Given the description of an element on the screen output the (x, y) to click on. 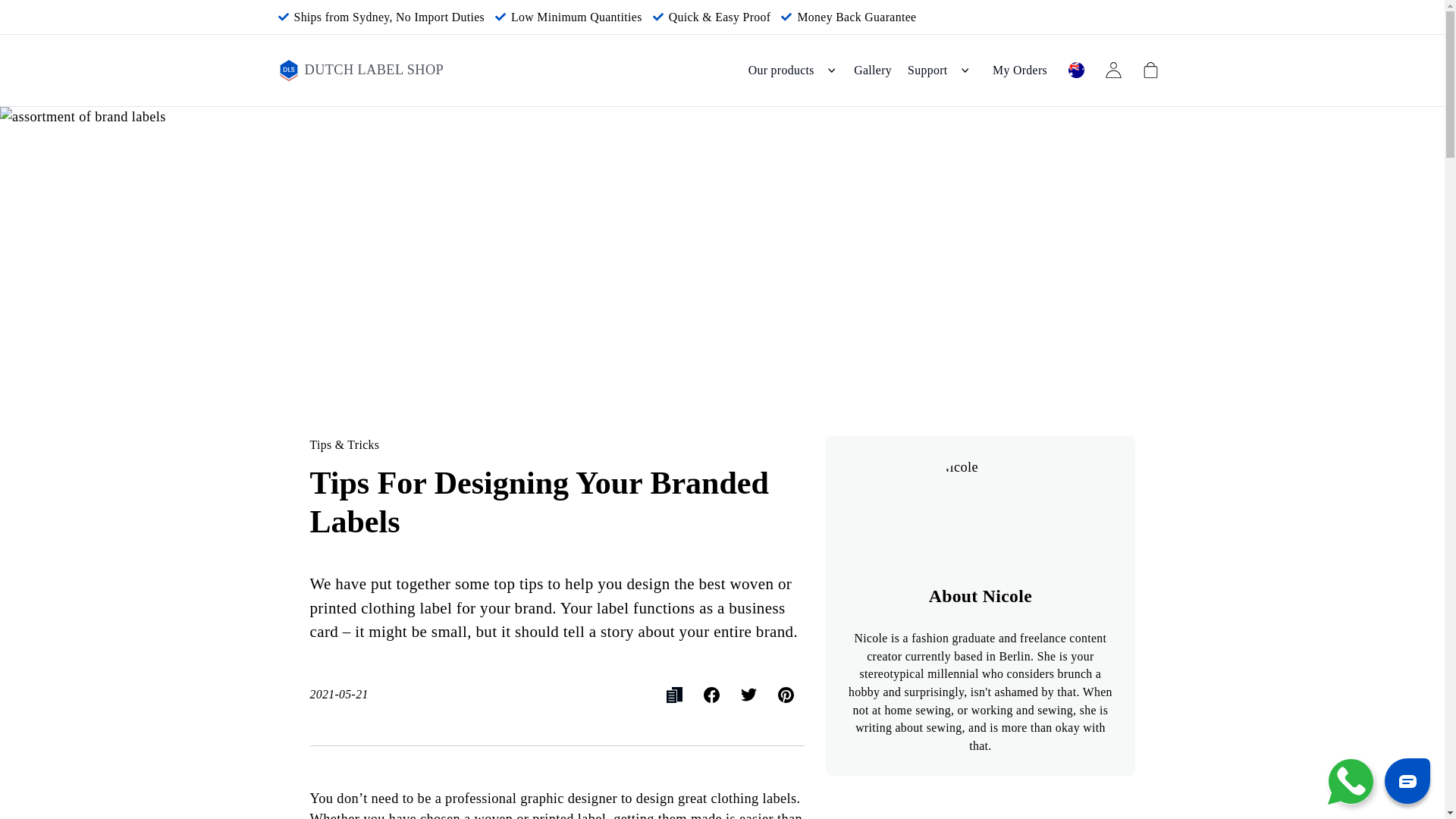
DUTCH LABEL SHOP (361, 70)
Gallery (872, 70)
Gallery (872, 70)
My Orders (1020, 70)
Our products (792, 70)
Support (939, 70)
Our products (792, 70)
Support (939, 70)
